Given the description of an element on the screen output the (x, y) to click on. 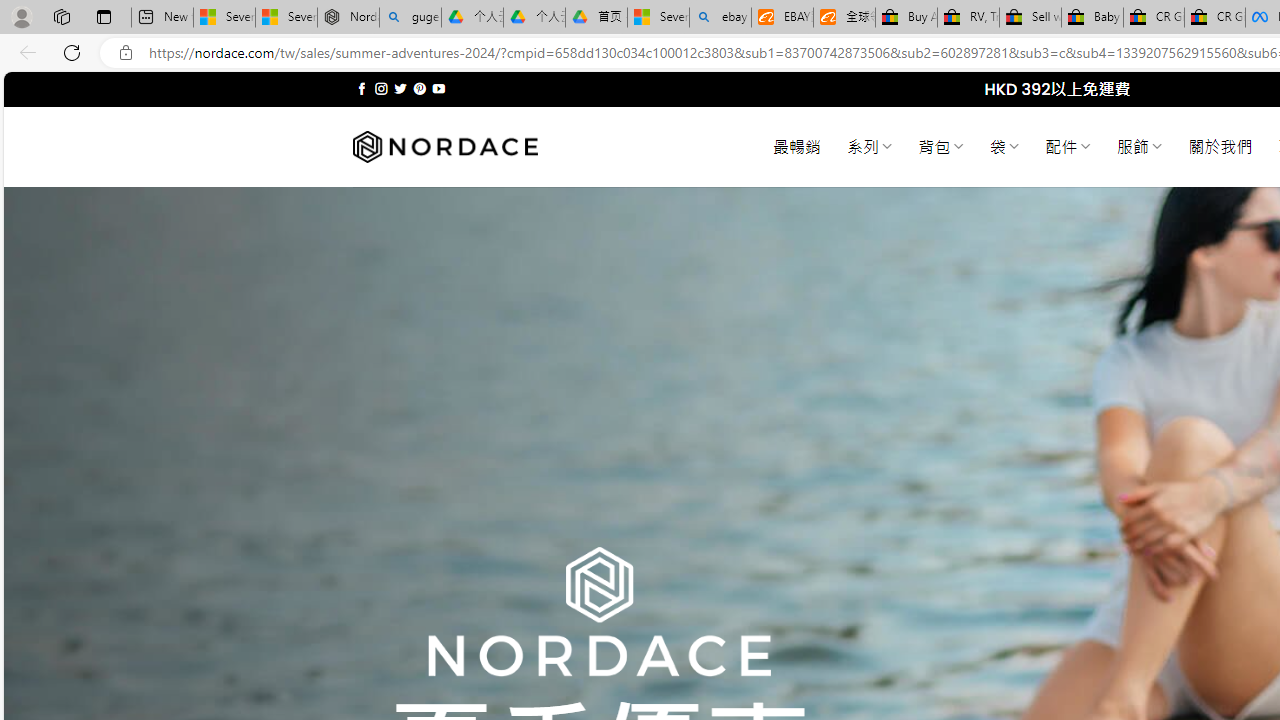
Follow on Facebook (361, 88)
Follow on YouTube (438, 88)
